Given the description of an element on the screen output the (x, y) to click on. 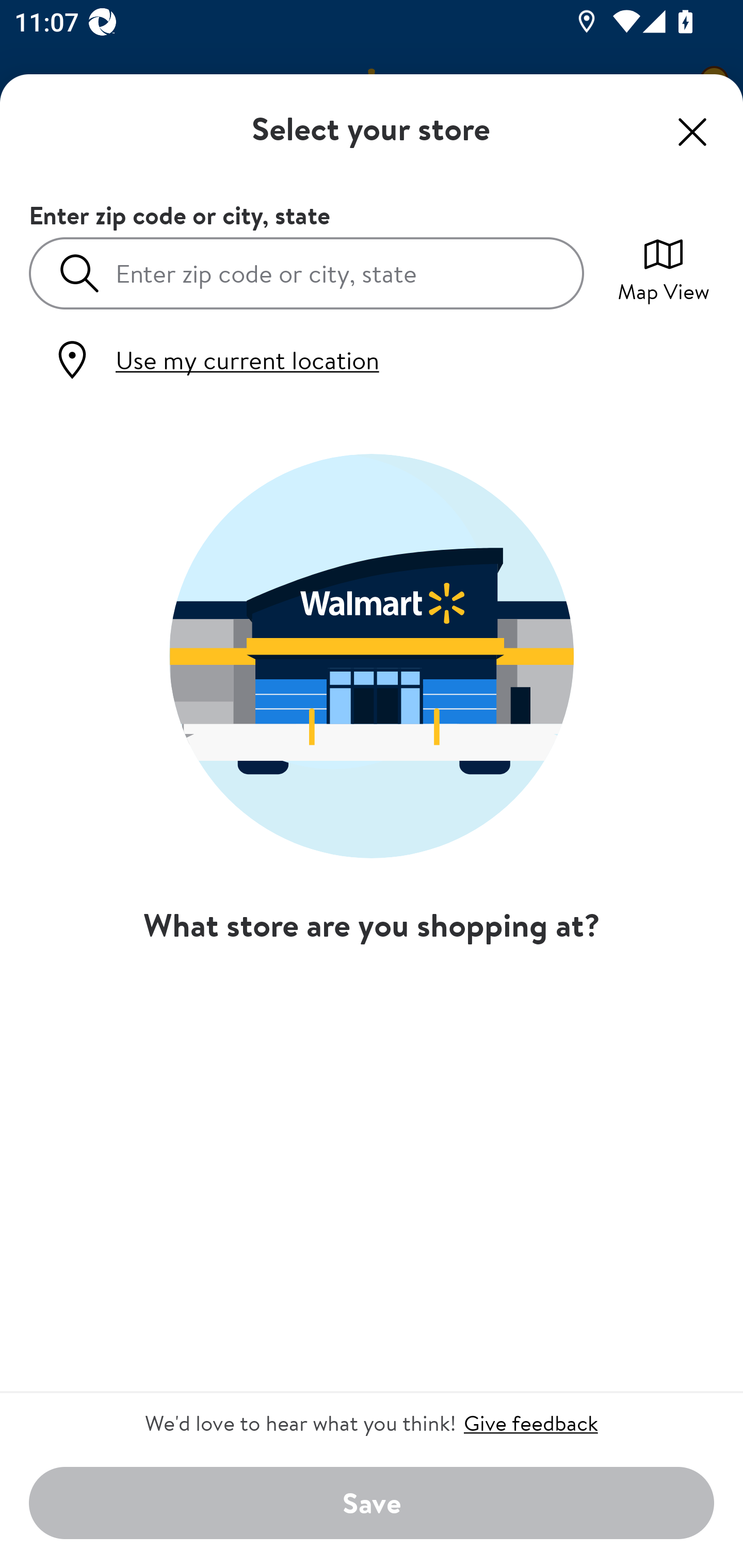
Close (692, 131)
Map View Switch to map view (663, 268)
Enter zip code or city, state (305, 272)
Use my current location (214, 359)
Give feedback (530, 1422)
Save (371, 1503)
